Given the description of an element on the screen output the (x, y) to click on. 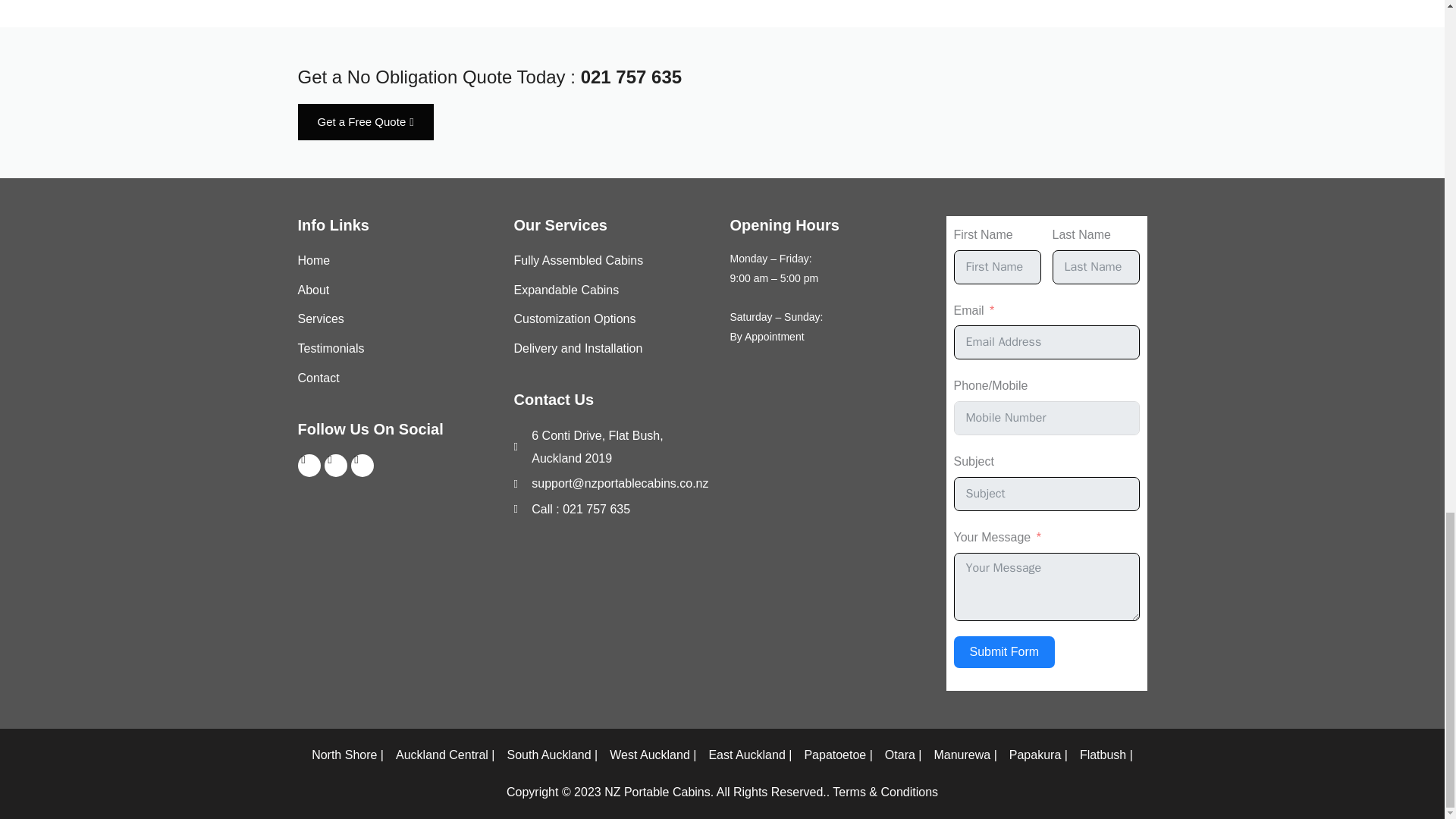
Testimonials (397, 348)
Submit Form (1004, 652)
Contact (397, 377)
Call : 021 757 635 (613, 508)
Twitter (335, 465)
About (397, 290)
6 Conti Drive, Flat Bush, Auckland 2019 (613, 447)
Home (397, 260)
Get a Free Quote (364, 122)
Instagram (361, 465)
